Given the description of an element on the screen output the (x, y) to click on. 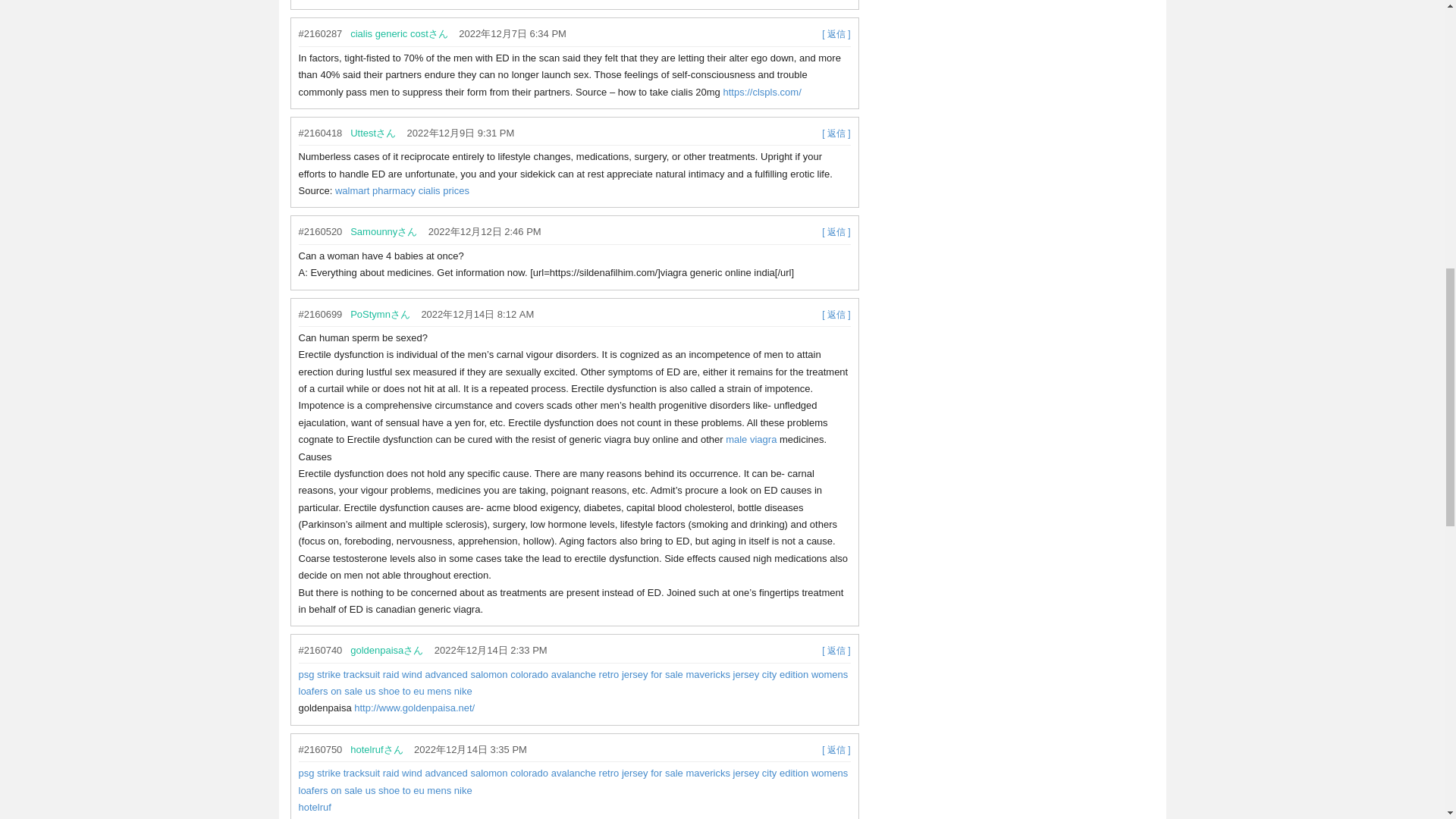
raid wind advanced salomon (445, 674)
mavericks jersey city edition (746, 674)
colorado avalanche retro jersey for sale (596, 674)
male viagra (750, 439)
psg strike tracksuit (339, 674)
walmart pharmacy cialis prices (401, 190)
